Given the description of an element on the screen output the (x, y) to click on. 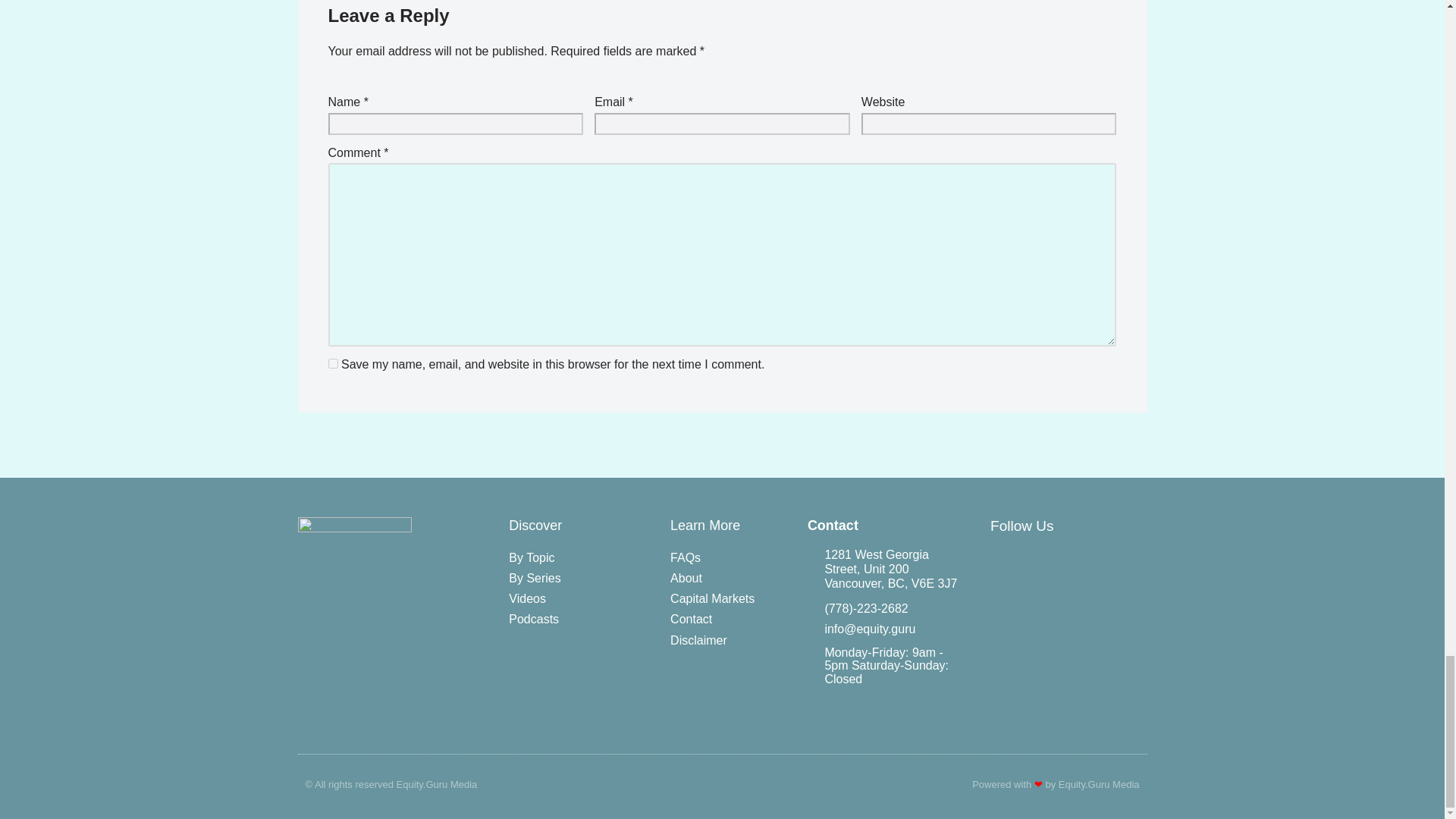
yes (332, 363)
